Given the description of an element on the screen output the (x, y) to click on. 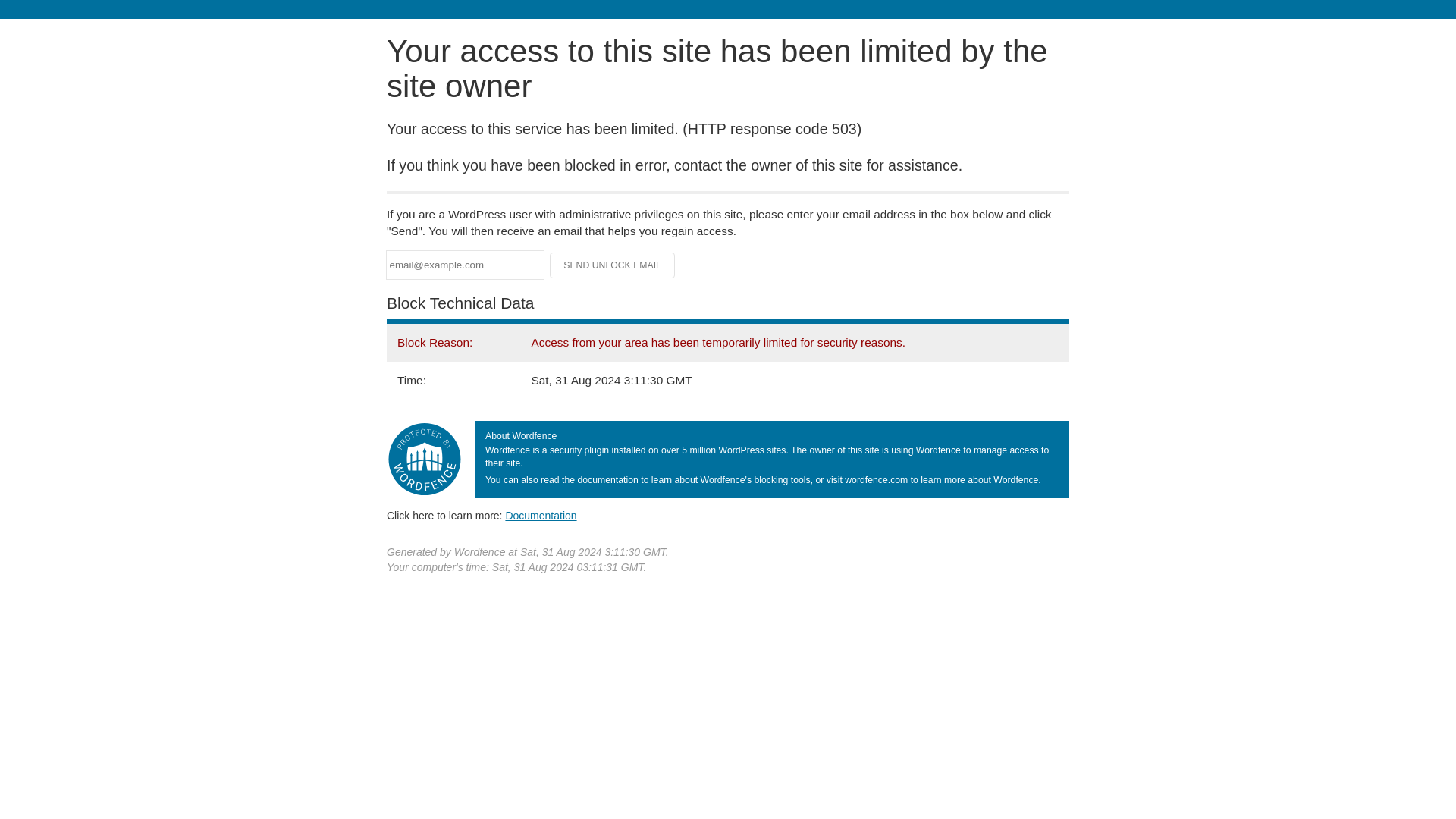
Send Unlock Email (612, 265)
Documentation (540, 515)
Send Unlock Email (612, 265)
